Given the description of an element on the screen output the (x, y) to click on. 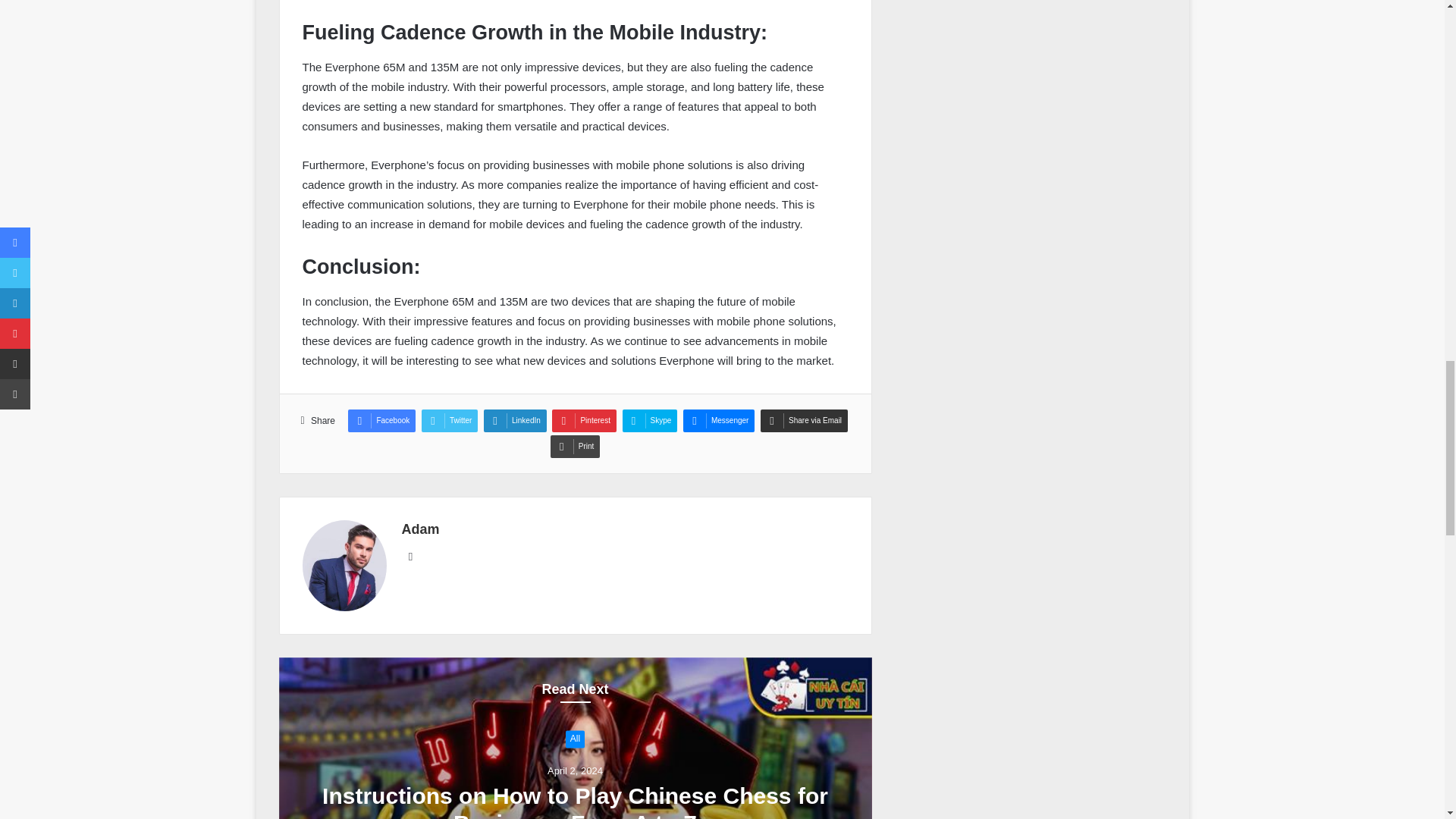
LinkedIn (515, 420)
Pinterest (583, 420)
Print (574, 445)
Facebook (380, 420)
Twitter (449, 420)
Messenger (718, 420)
Share via Email (803, 420)
Skype (650, 420)
Twitter (449, 420)
Facebook (380, 420)
